Given the description of an element on the screen output the (x, y) to click on. 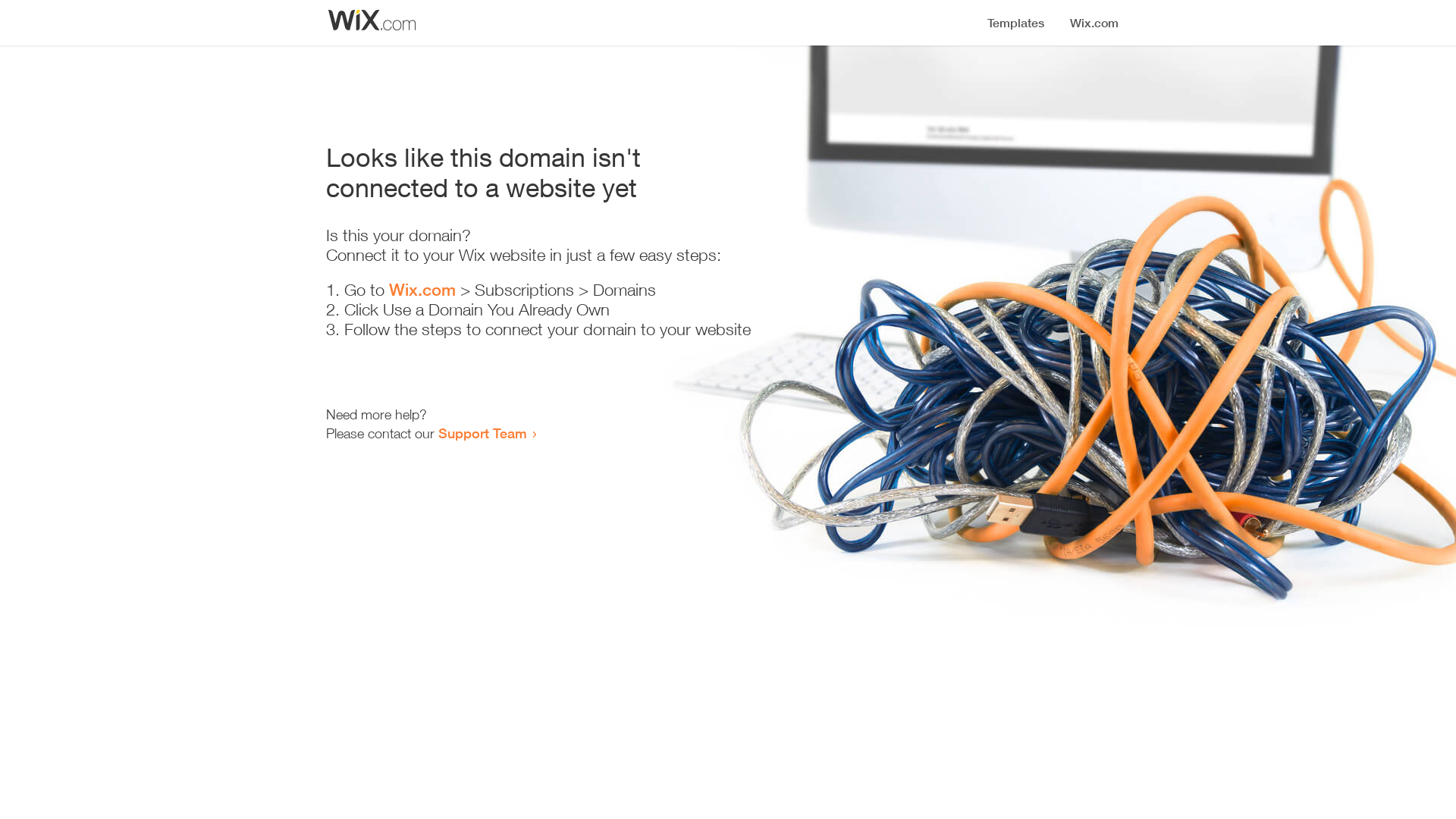
Wix.com Element type: text (422, 289)
Support Team Element type: text (482, 432)
